Given the description of an element on the screen output the (x, y) to click on. 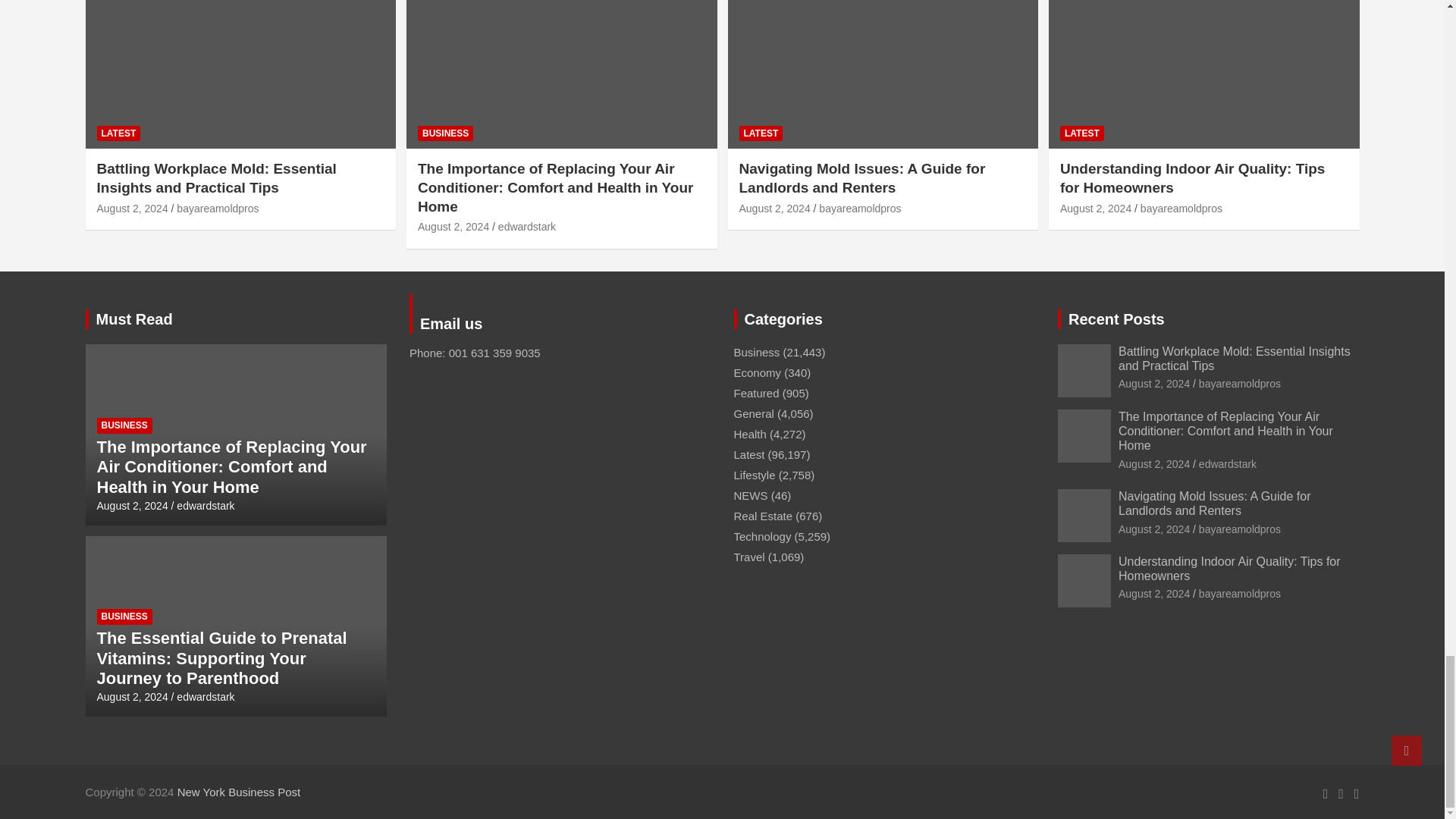
Navigating Mold Issues: A Guide for Landlords and Renters (773, 208)
Understanding Indoor Air Quality: Tips for Homeowners (1095, 208)
